Given the description of an element on the screen output the (x, y) to click on. 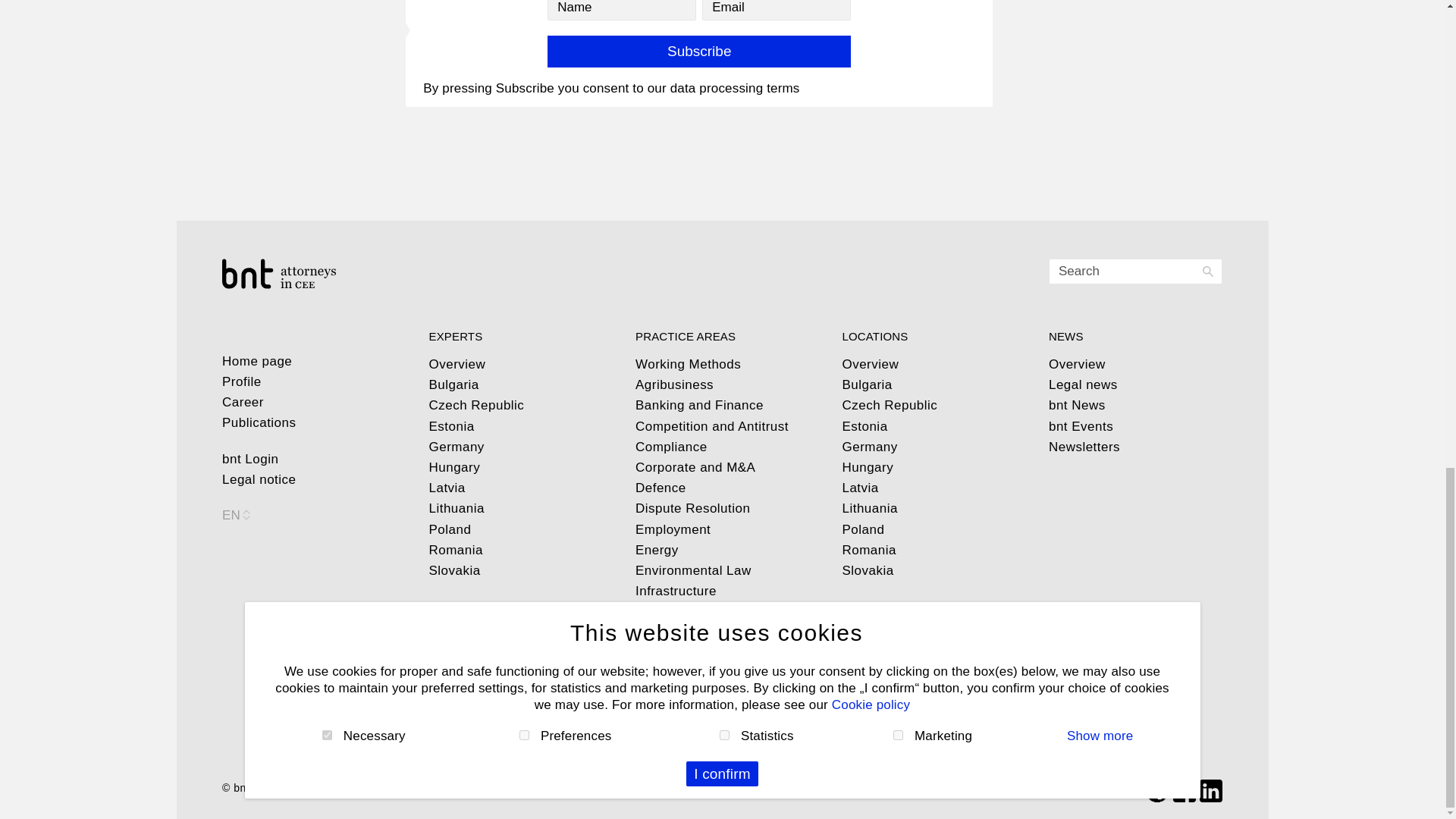
Search (1135, 271)
Search (1135, 271)
Visit us on Facebook (1184, 789)
bnt attorneys for Central and Eastern Europe (309, 273)
Legal and Tax Consultancy in Central and Eastern Europe (243, 787)
